Given the description of an element on the screen output the (x, y) to click on. 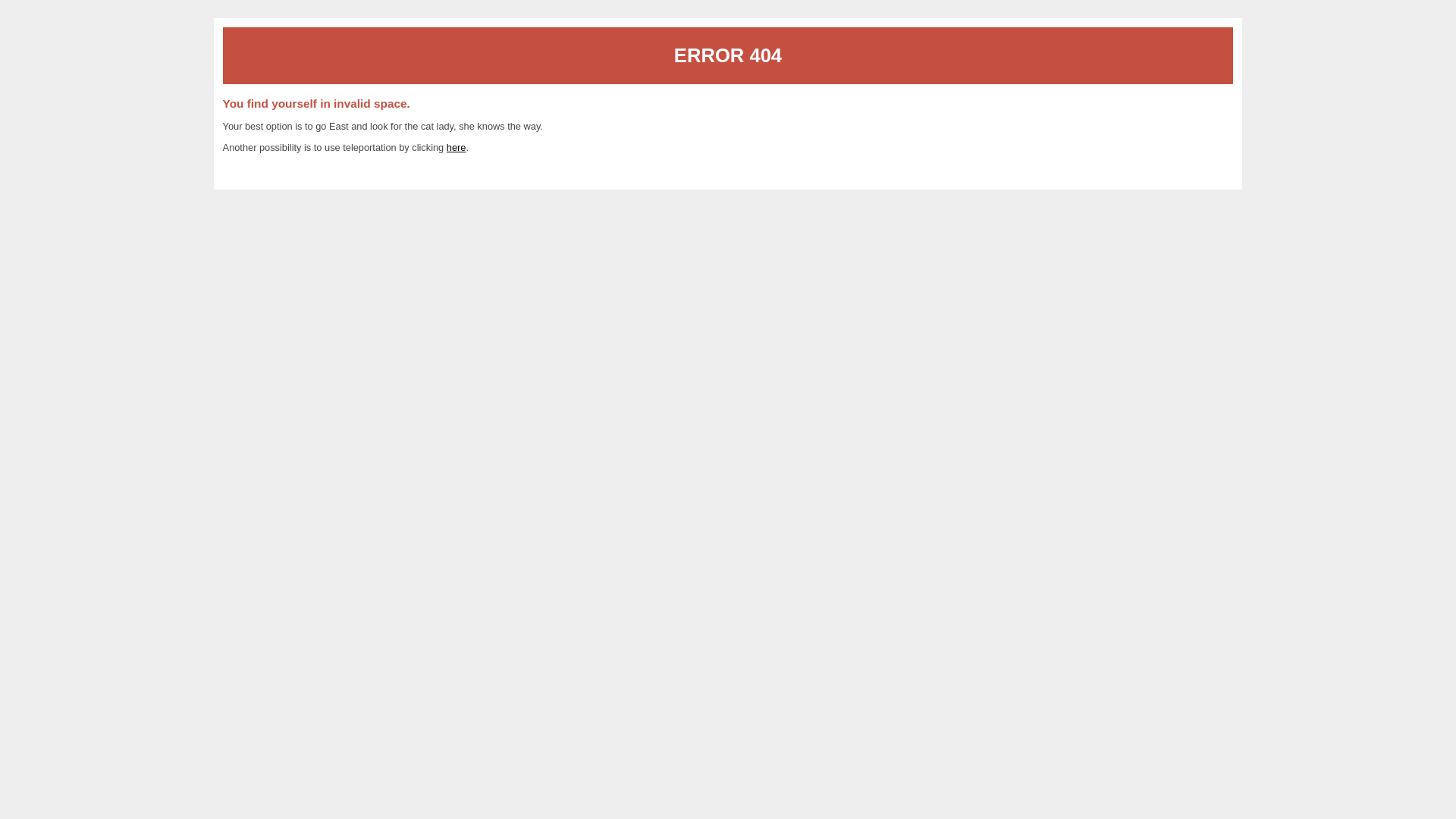
here Element type: text (456, 147)
